Given the description of an element on the screen output the (x, y) to click on. 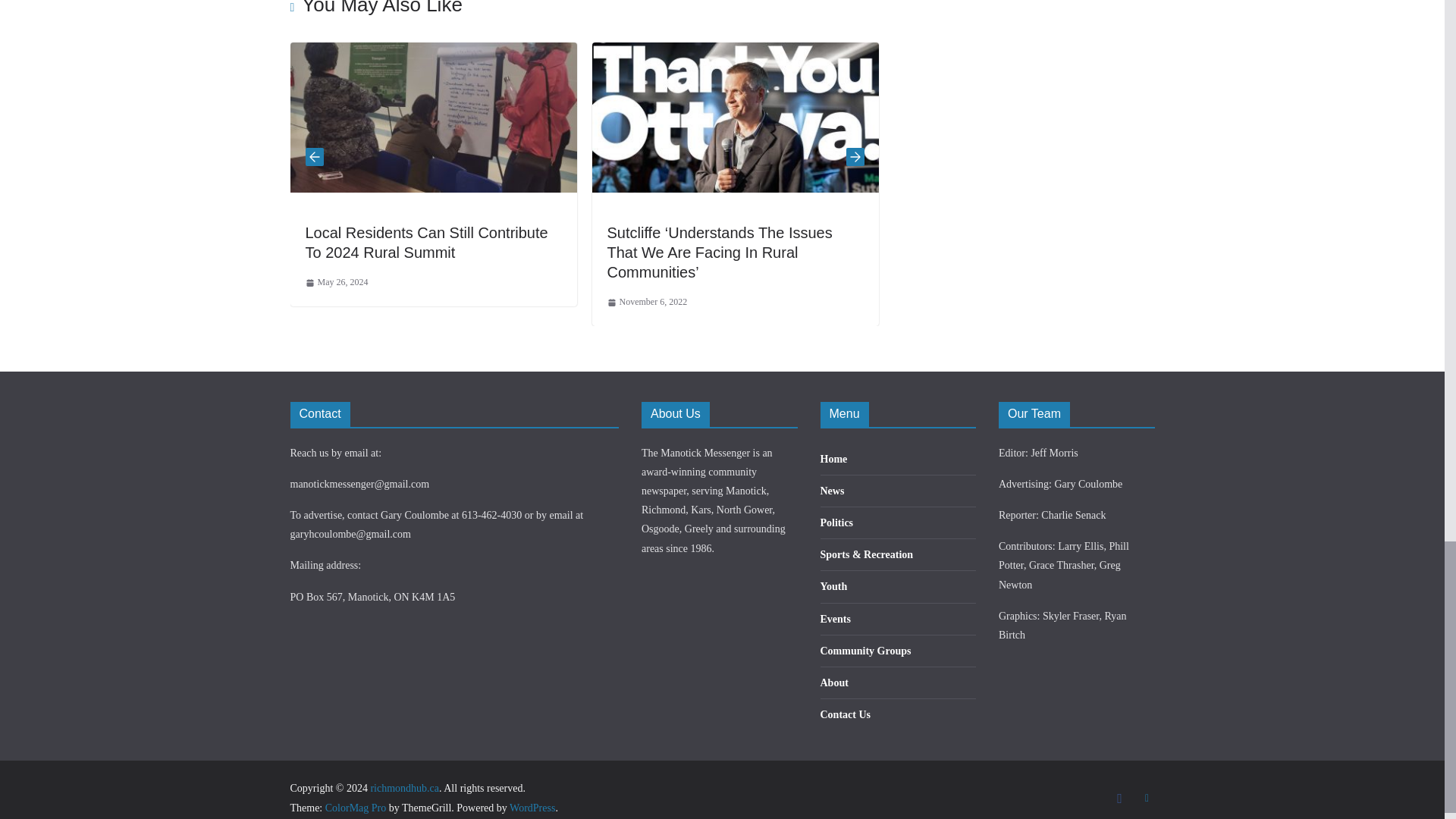
Local Residents Can Still Contribute To 2024 Rural Summit (425, 242)
May 26, 2024 (336, 282)
November 6, 2022 (647, 302)
11:06 pm (647, 302)
Local Residents Can Still Contribute To 2024 Rural Summit (432, 51)
8:48 pm (336, 282)
Local Residents Can Still Contribute To 2024 Rural Summit (425, 242)
